Given the description of an element on the screen output the (x, y) to click on. 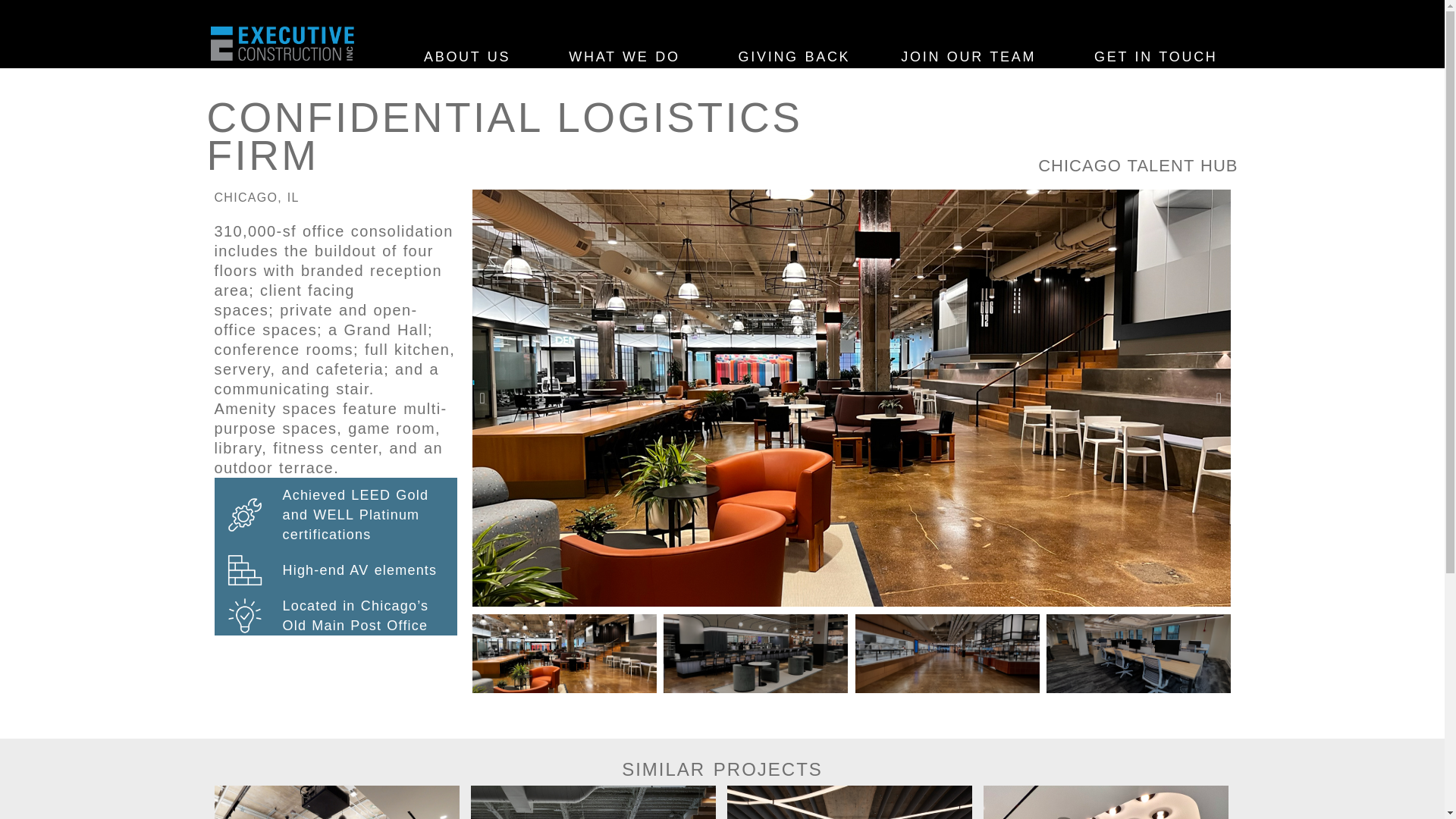
WHAT WE DO (627, 56)
GET IN TOUCH (1154, 56)
ECI header logo color (282, 43)
ABOUT US (470, 56)
GIVING BACK (794, 56)
JOIN OUR TEAM (971, 56)
